Given the description of an element on the screen output the (x, y) to click on. 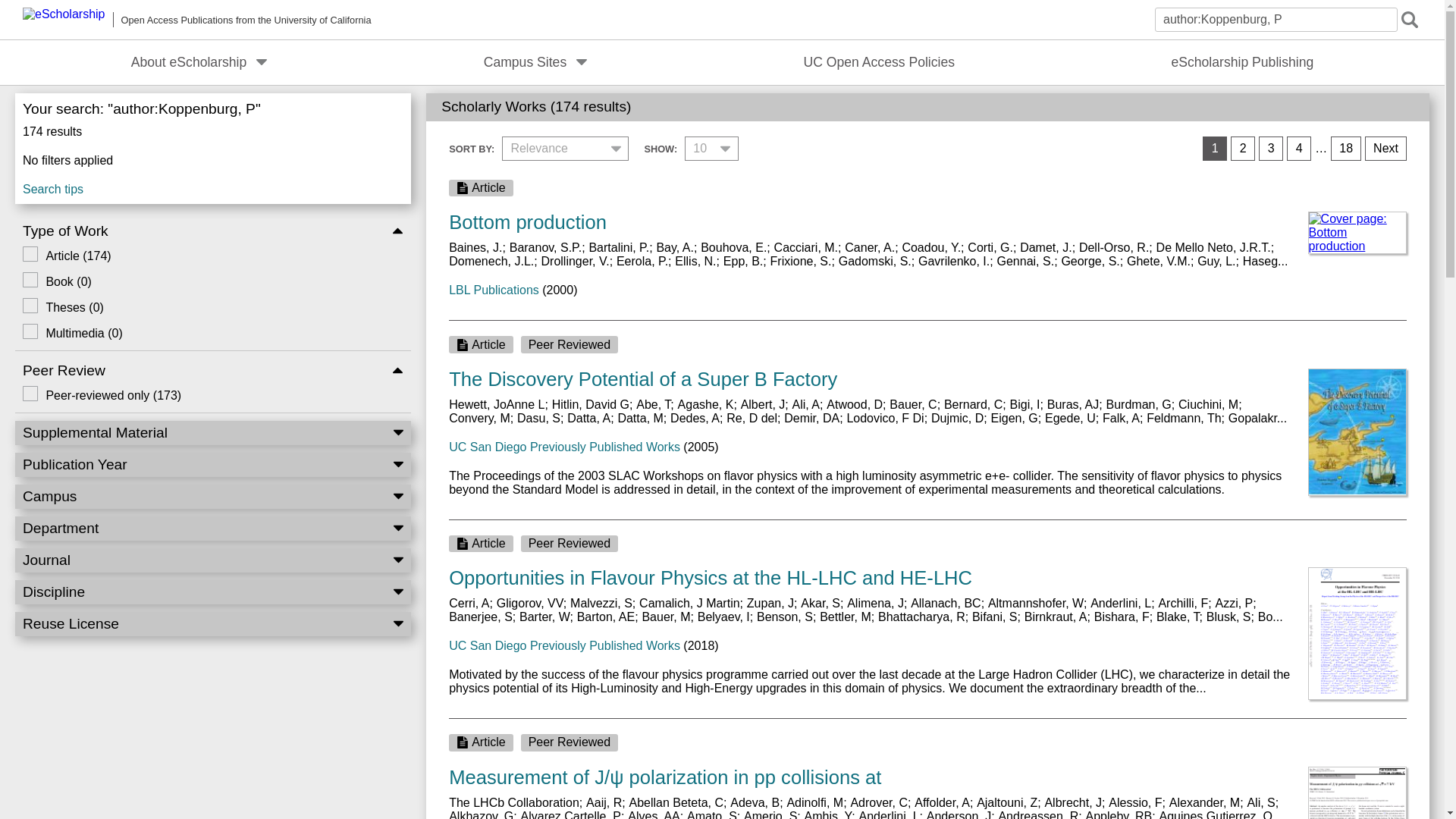
eScholarship Publishing (1241, 61)
2 (1242, 148)
Search tips (213, 185)
1 (1214, 148)
Next (1385, 148)
4 (1299, 148)
author:Koppenburg, P (1275, 19)
3 (1270, 148)
UC Open Access Policies (879, 61)
Open Access Publications from the University of California (197, 19)
author:Koppenburg, P (1275, 19)
18 (1345, 148)
